Given the description of an element on the screen output the (x, y) to click on. 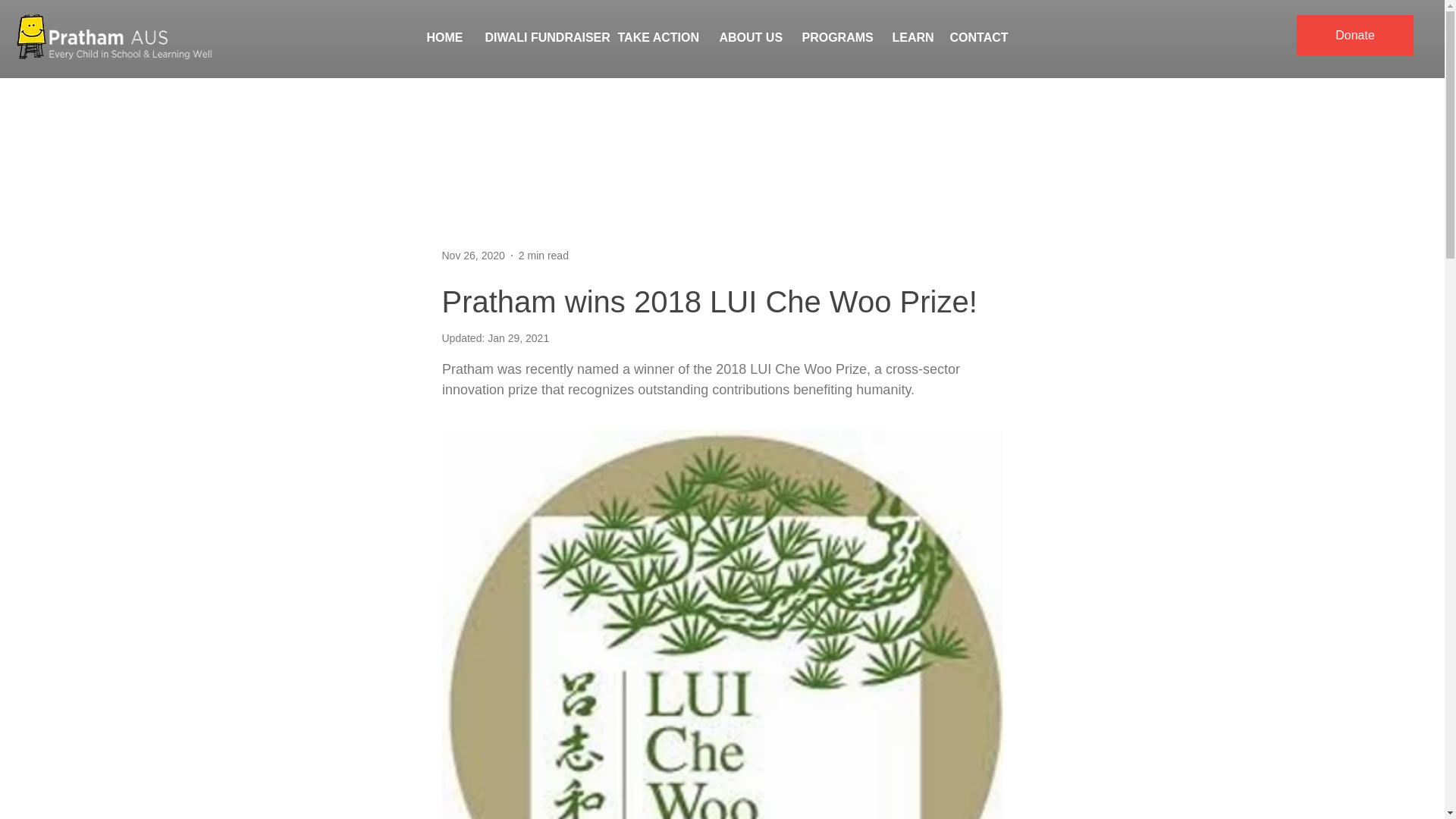
DIWALI FUNDRAISER (539, 37)
ABOUT US (748, 37)
PROGRAMS (835, 37)
Donate (1355, 35)
HOME (444, 37)
2 min read (543, 254)
CONTACT (980, 37)
Jan 29, 2021 (517, 337)
TAKE ACTION (657, 37)
Nov 26, 2020 (472, 254)
LEARN (909, 37)
